Given the description of an element on the screen output the (x, y) to click on. 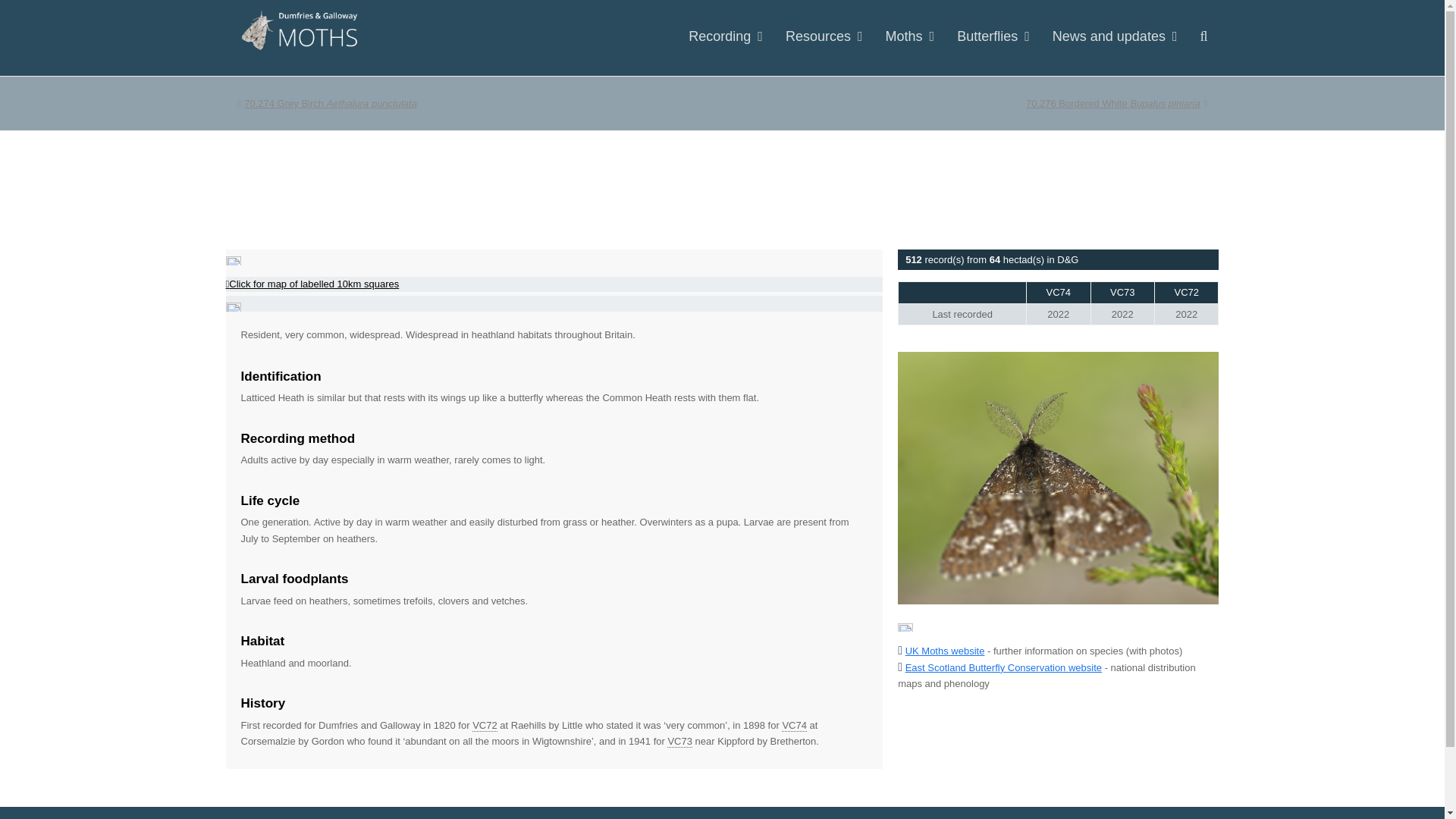
Resources (824, 37)
News and updates (1115, 37)
Butterflies (992, 37)
Recording (325, 102)
Click for map of labelled 10km squares (725, 37)
Moths (1117, 102)
